Given the description of an element on the screen output the (x, y) to click on. 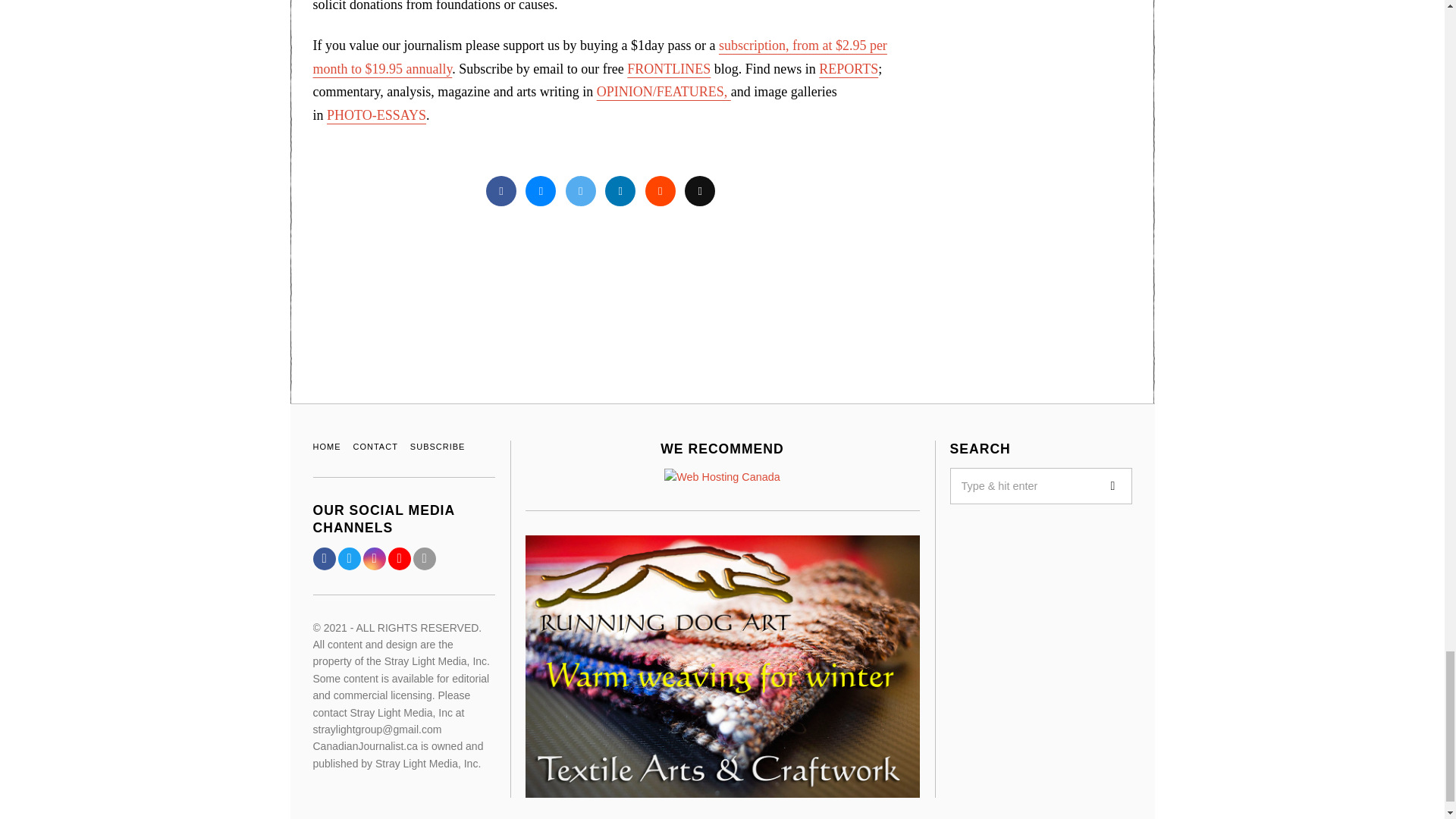
REPORTS (847, 68)
Subscribe page (599, 56)
FRONTLINES (668, 68)
